Given the description of an element on the screen output the (x, y) to click on. 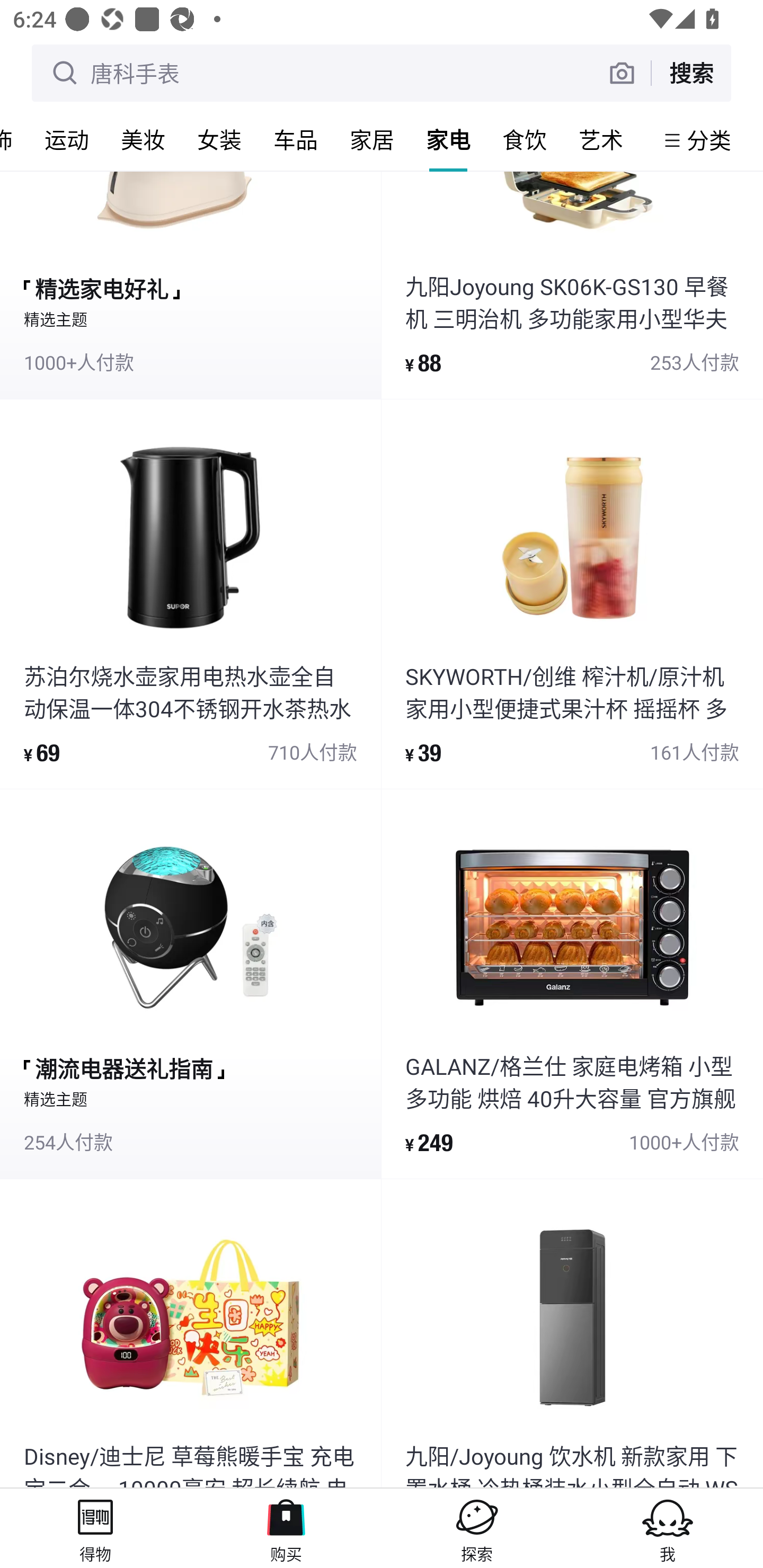
搜索 (690, 72)
运动 (66, 139)
美妆 (143, 139)
女装 (219, 139)
车品 (295, 139)
家居 (372, 139)
家电 (448, 139)
食饮 (524, 139)
艺术 (601, 139)
分类 (708, 139)
精选家电好礼 精选主题 1000+人付款 (190, 284)
潮流电器送礼指南 精选主题 254人付款 (190, 983)
得物 (95, 1528)
购买 (285, 1528)
探索 (476, 1528)
我 (667, 1528)
